Given the description of an element on the screen output the (x, y) to click on. 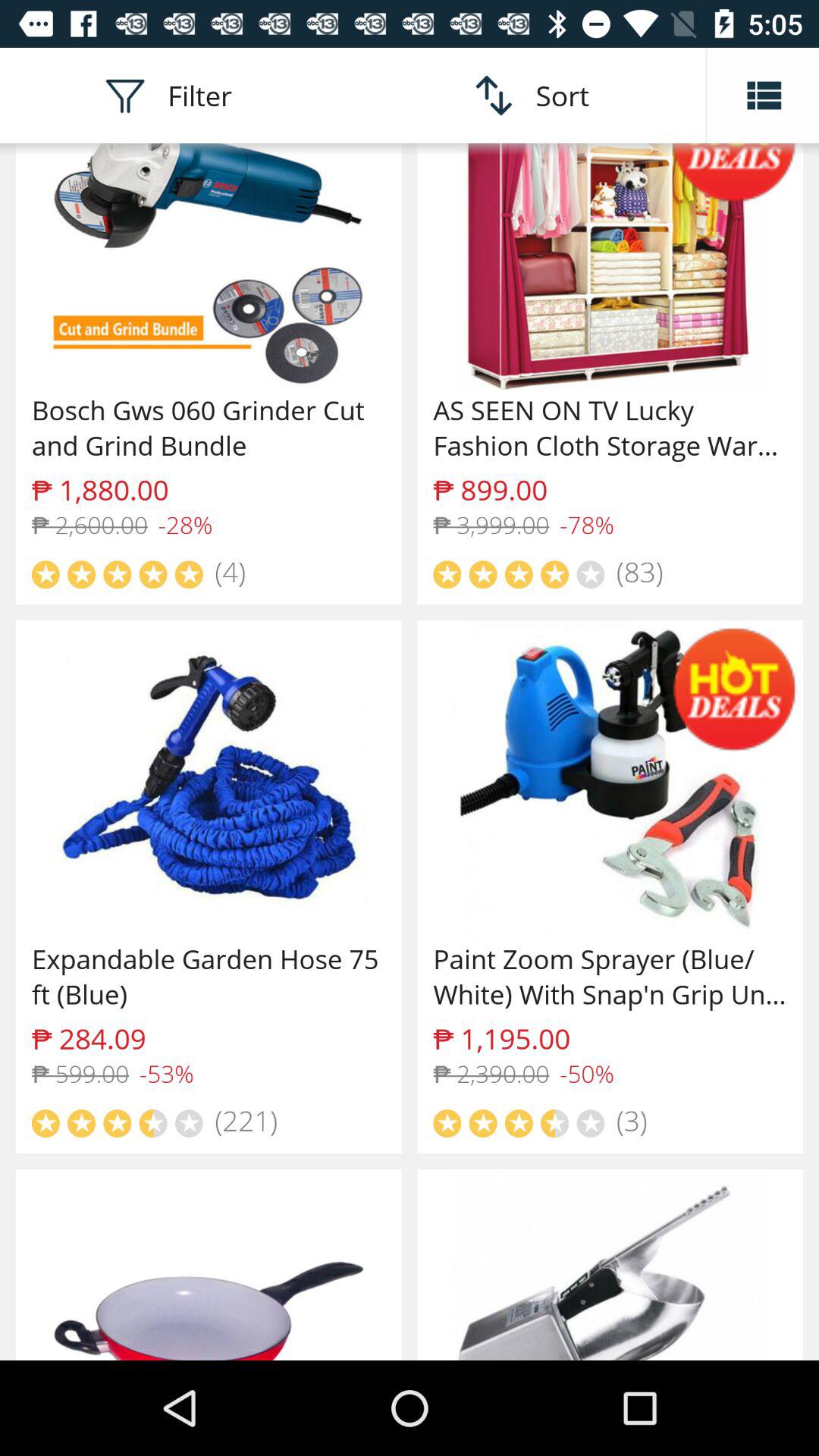
open menu (763, 95)
